Given the description of an element on the screen output the (x, y) to click on. 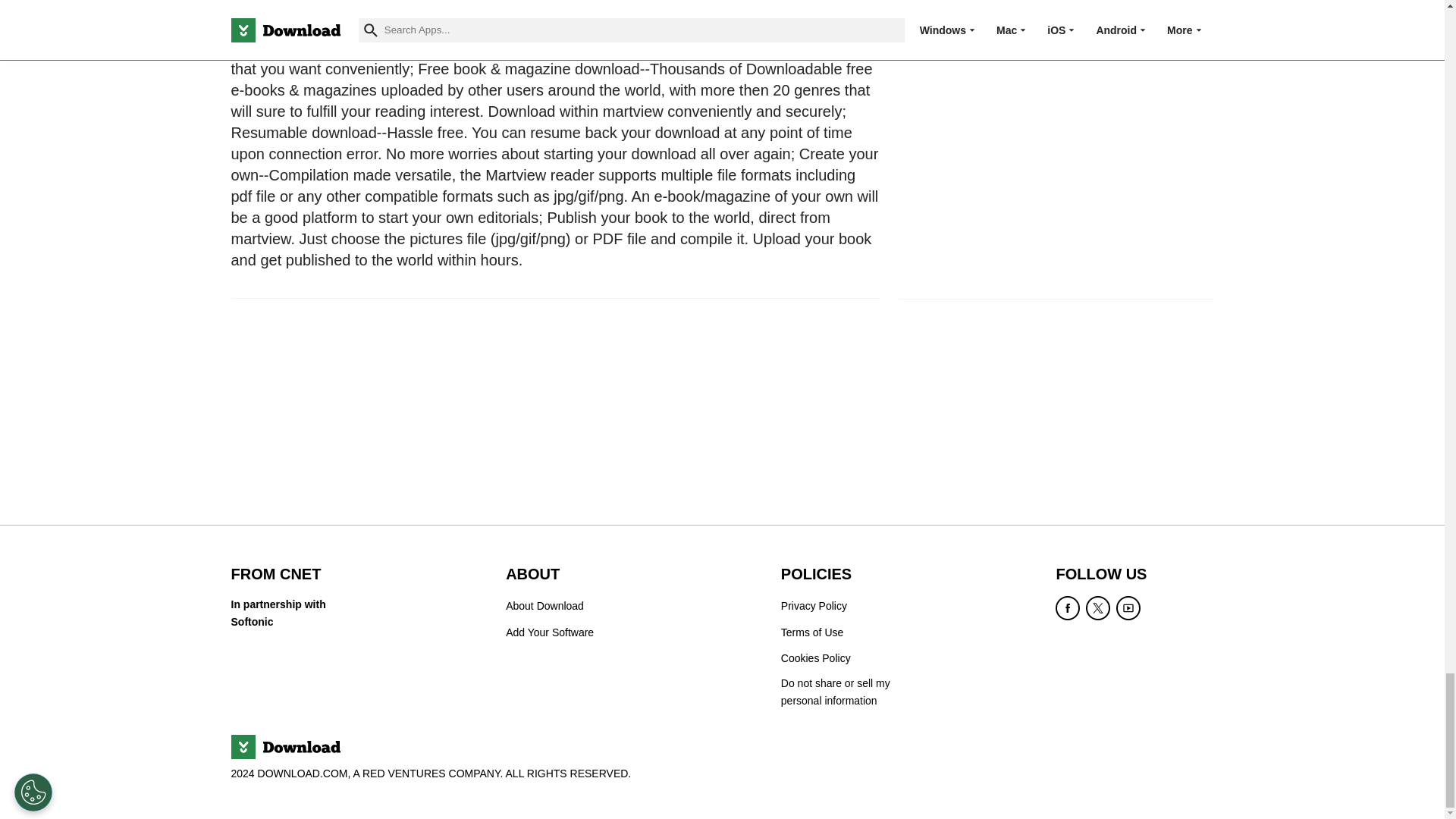
Become a Facebook fan of Download.com (1067, 607)
